Given the description of an element on the screen output the (x, y) to click on. 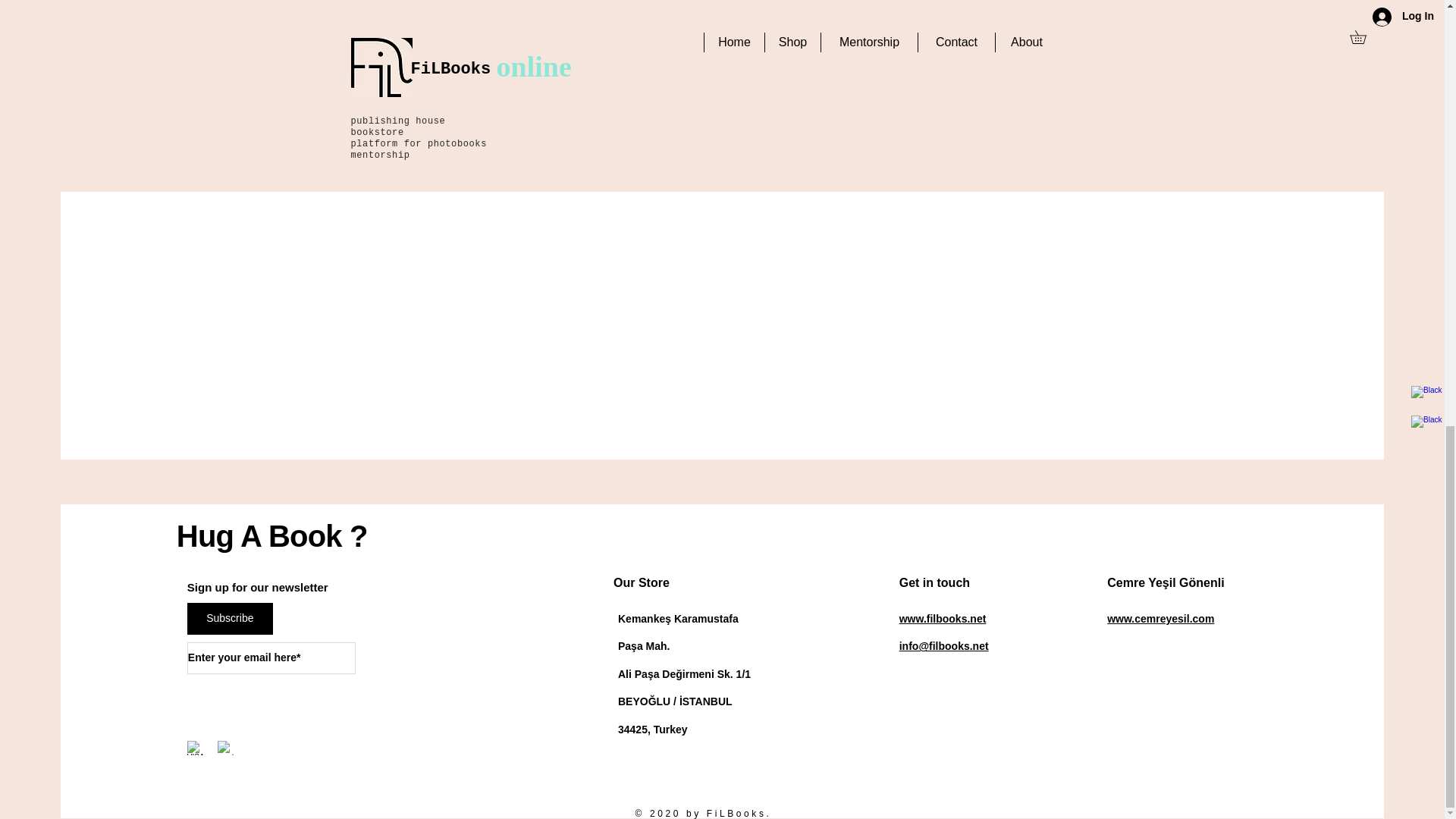
Subscribe (230, 618)
www.cemreyesil.com (1160, 618)
www.filbooks.net (943, 618)
